Given the description of an element on the screen output the (x, y) to click on. 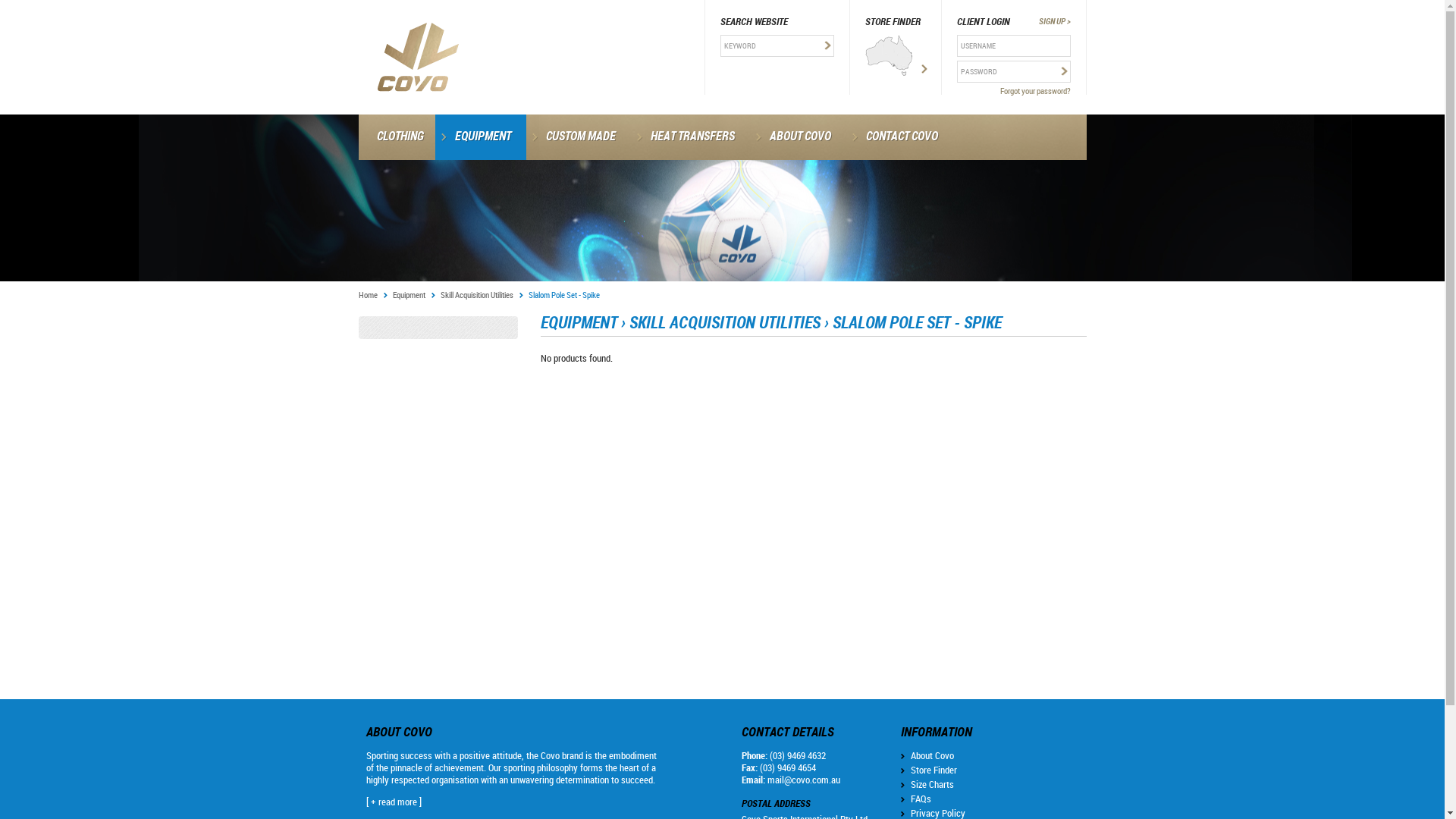
CLOTHING Element type: text (395, 137)
HEAT TRANSFERS Element type: text (689, 137)
CONTACT COVO Element type: text (899, 137)
SIGN UP > Element type: text (1054, 21)
CUSTOM MADE Element type: text (578, 137)
mail@covo.com.au Element type: text (803, 779)
FAQs Element type: text (920, 798)
[ + read more ] Element type: text (392, 801)
ABOUT COVO Element type: text (797, 137)
About Covo Element type: text (931, 755)
Home Element type: text (371, 294)
Forgot your password? Element type: text (1013, 90)
Equipment Element type: text (413, 294)
Store Finder Element type: text (933, 769)
EQUIPMENT Element type: text (480, 137)
Skill Acquisition Utilities Element type: text (480, 294)
Size Charts Element type: text (931, 783)
